Given the description of an element on the screen output the (x, y) to click on. 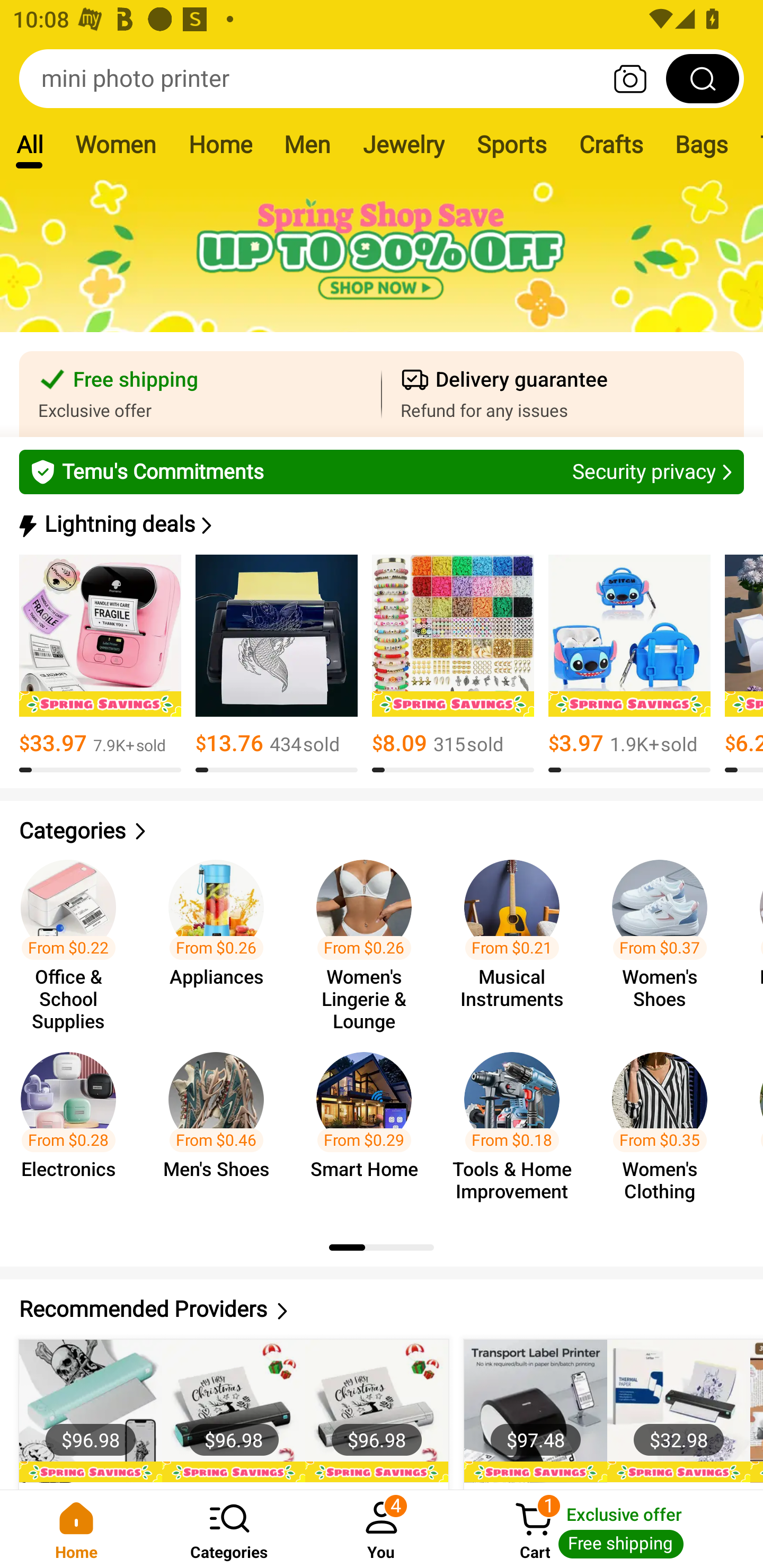
mini photo printer (381, 78)
All (29, 144)
Women (115, 144)
Home (219, 144)
Men (306, 144)
Jewelry (403, 144)
Sports (511, 144)
Crafts (611, 144)
Bags (701, 144)
Free shipping Exclusive offer (200, 394)
Delivery guarantee Refund for any issues (562, 394)
Temu's Commitments (381, 471)
Lightning deals (379, 524)
$33.97 7.9K+￼sold 8.0 (100, 664)
$13.76 434￼sold 8.0 (276, 664)
$8.09 315￼sold 8.0 (453, 664)
$3.97 1.9K+￼sold 8.0 (629, 664)
Categories (381, 830)
From $0.22 Office & School Supplies (74, 936)
From $0.26 Appliances (222, 936)
From $0.26 Women's Lingerie & Lounge (369, 936)
From $0.21 Musical Instruments (517, 936)
From $0.37 Women's Shoes (665, 936)
From $0.28 Electronics (74, 1128)
From $0.46 Men's Shoes (222, 1128)
From $0.29 Smart Home (369, 1128)
From $0.18 Tools & Home Improvement (517, 1128)
From $0.35 Women's Clothing (665, 1128)
Recommended Providers (381, 1309)
Home (76, 1528)
Categories (228, 1528)
You 4 You (381, 1528)
Cart 1 Cart Exclusive offer (610, 1528)
